Given the description of an element on the screen output the (x, y) to click on. 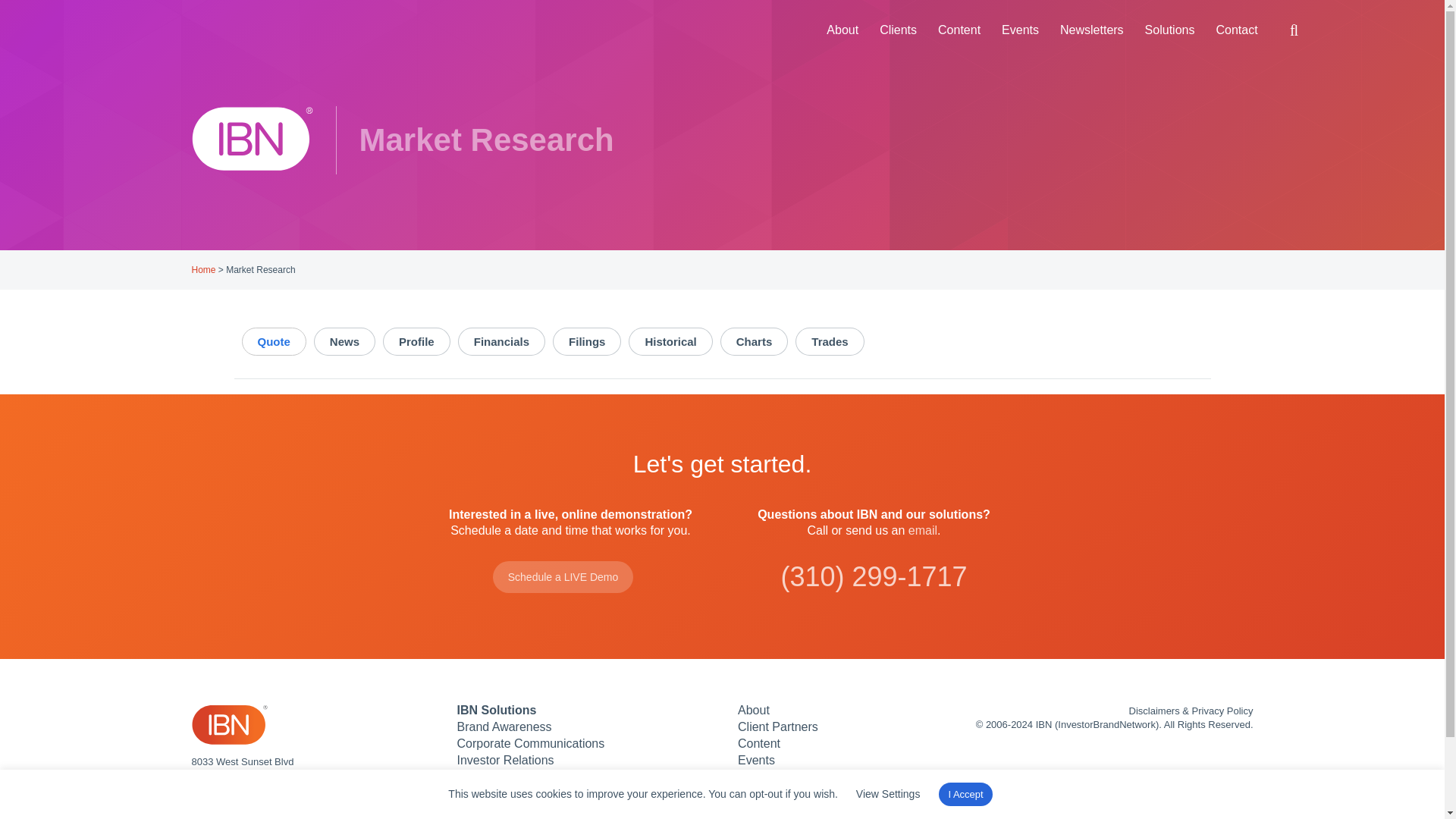
Financials (501, 341)
Contact (1236, 29)
Brand Awareness (504, 726)
Newsletters (1091, 29)
Quote (273, 341)
Profile (415, 341)
Podcast Solutions (505, 776)
Client Partners (778, 726)
Events (1020, 29)
Historical (669, 341)
email (922, 530)
Investor Relations (505, 759)
Filings (587, 341)
Content (959, 29)
About (842, 29)
